Given the description of an element on the screen output the (x, y) to click on. 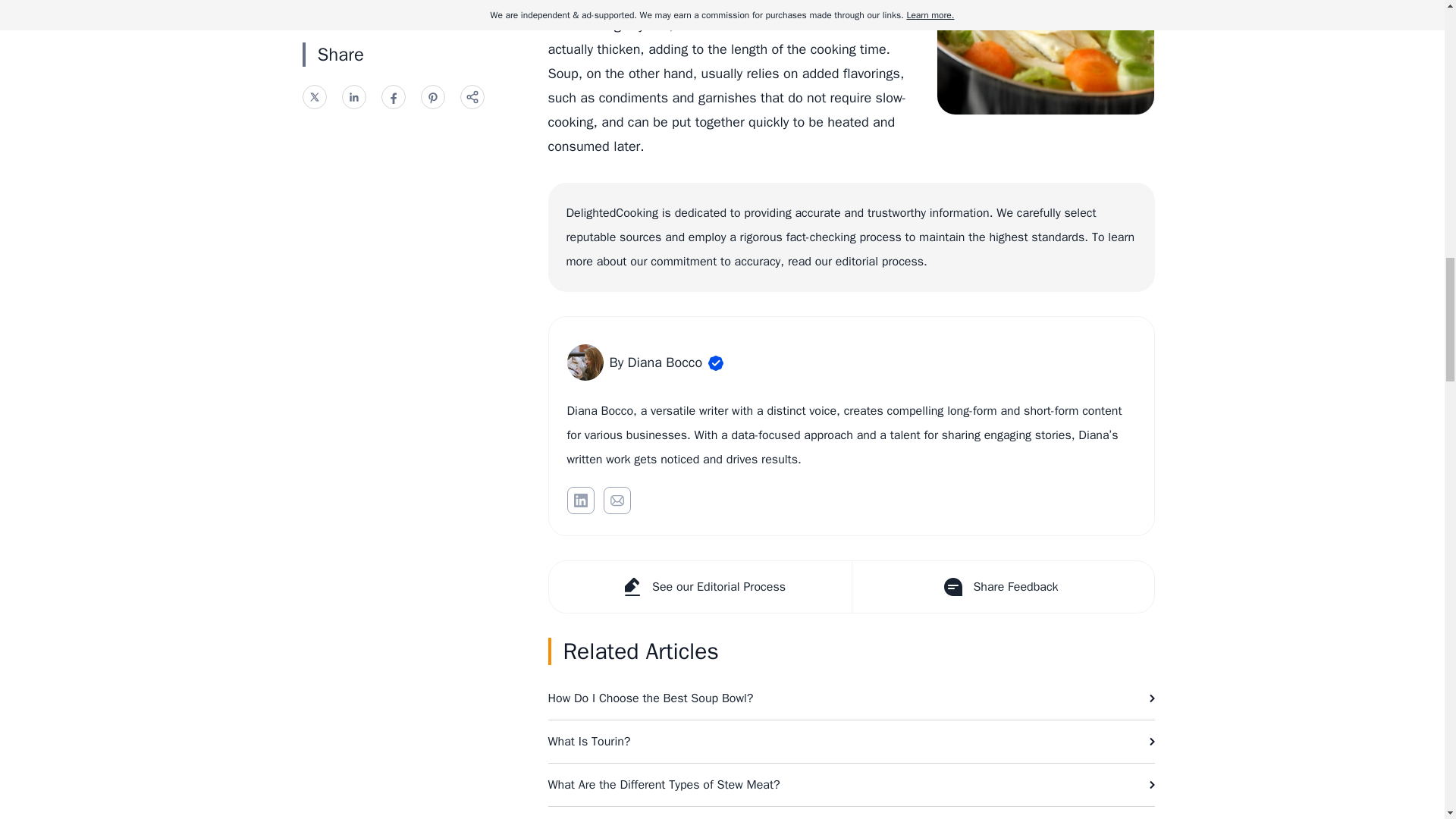
See our Editorial Process (699, 586)
Share Feedback (1001, 586)
